Given the description of an element on the screen output the (x, y) to click on. 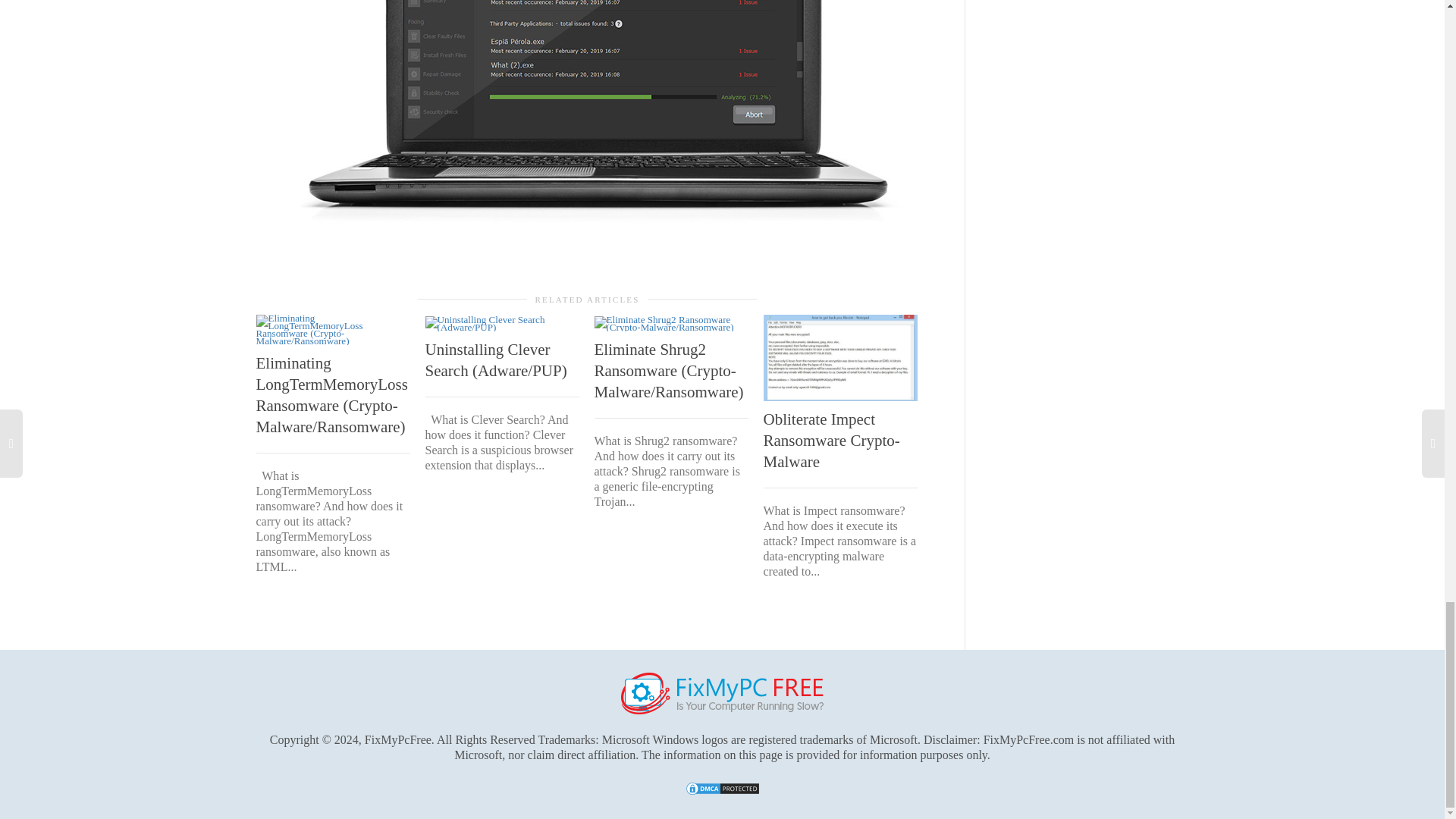
Obliterate Impect Ransomware Crypto-Malware (830, 440)
DMCA.com Protection Status (722, 788)
